Given the description of an element on the screen output the (x, y) to click on. 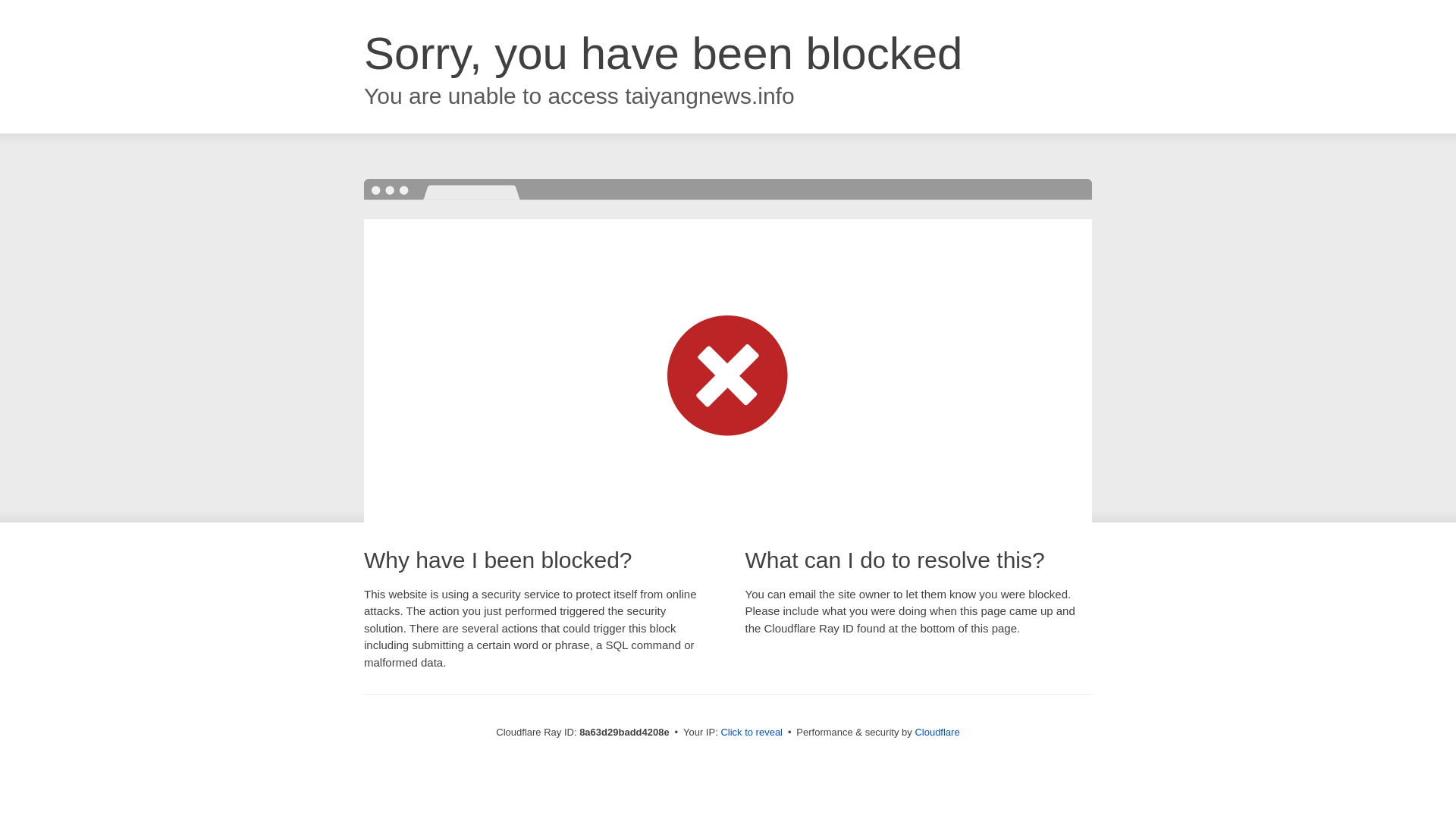
Click to reveal (751, 732)
Cloudflare (936, 731)
